Given the description of an element on the screen output the (x, y) to click on. 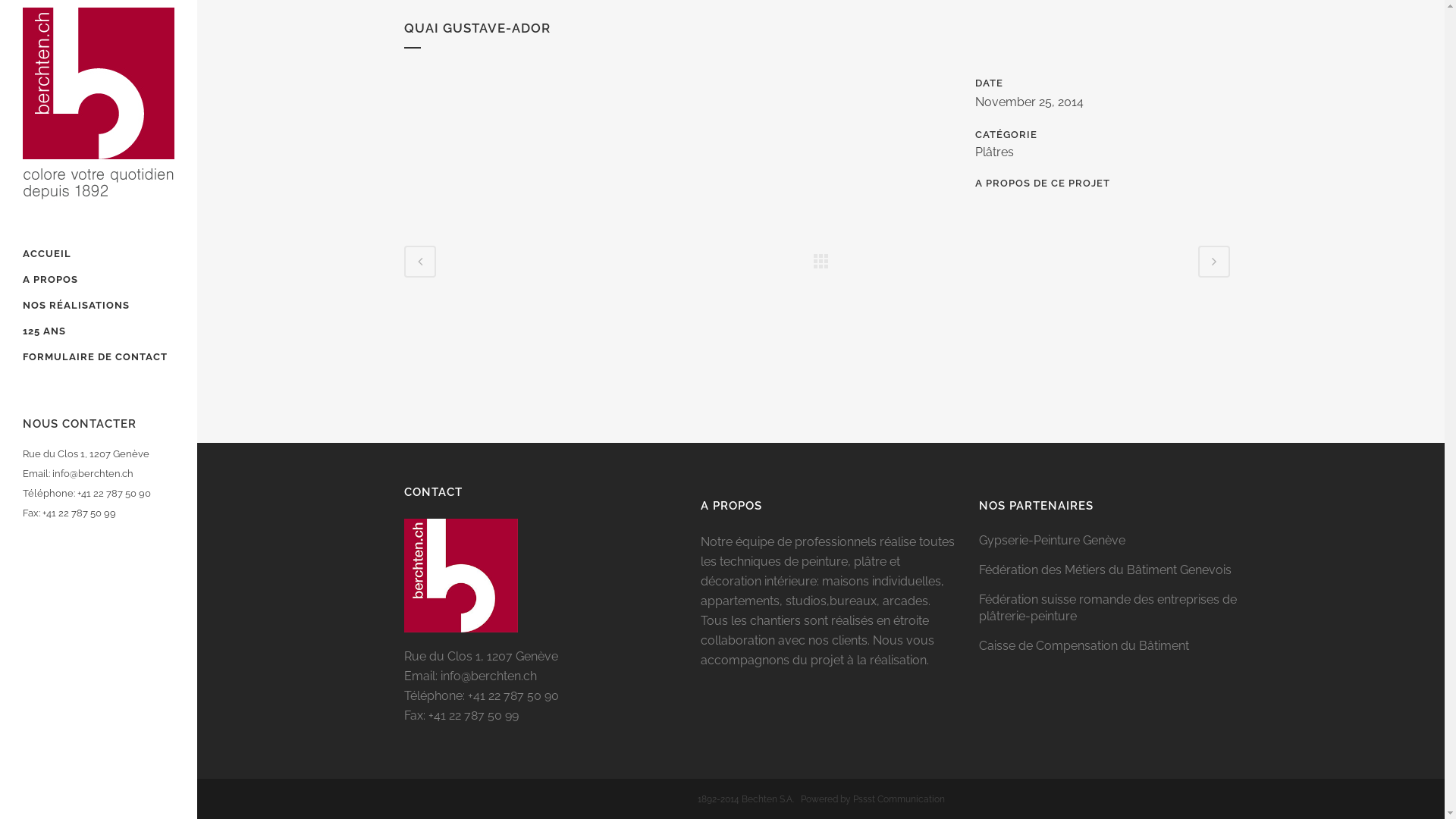
125 ANS Element type: text (98, 331)
A PROPOS Element type: text (98, 279)
ACCUEIL Element type: text (98, 253)
FORMULAIRE DE CONTACT Element type: text (98, 357)
